Given the description of an element on the screen output the (x, y) to click on. 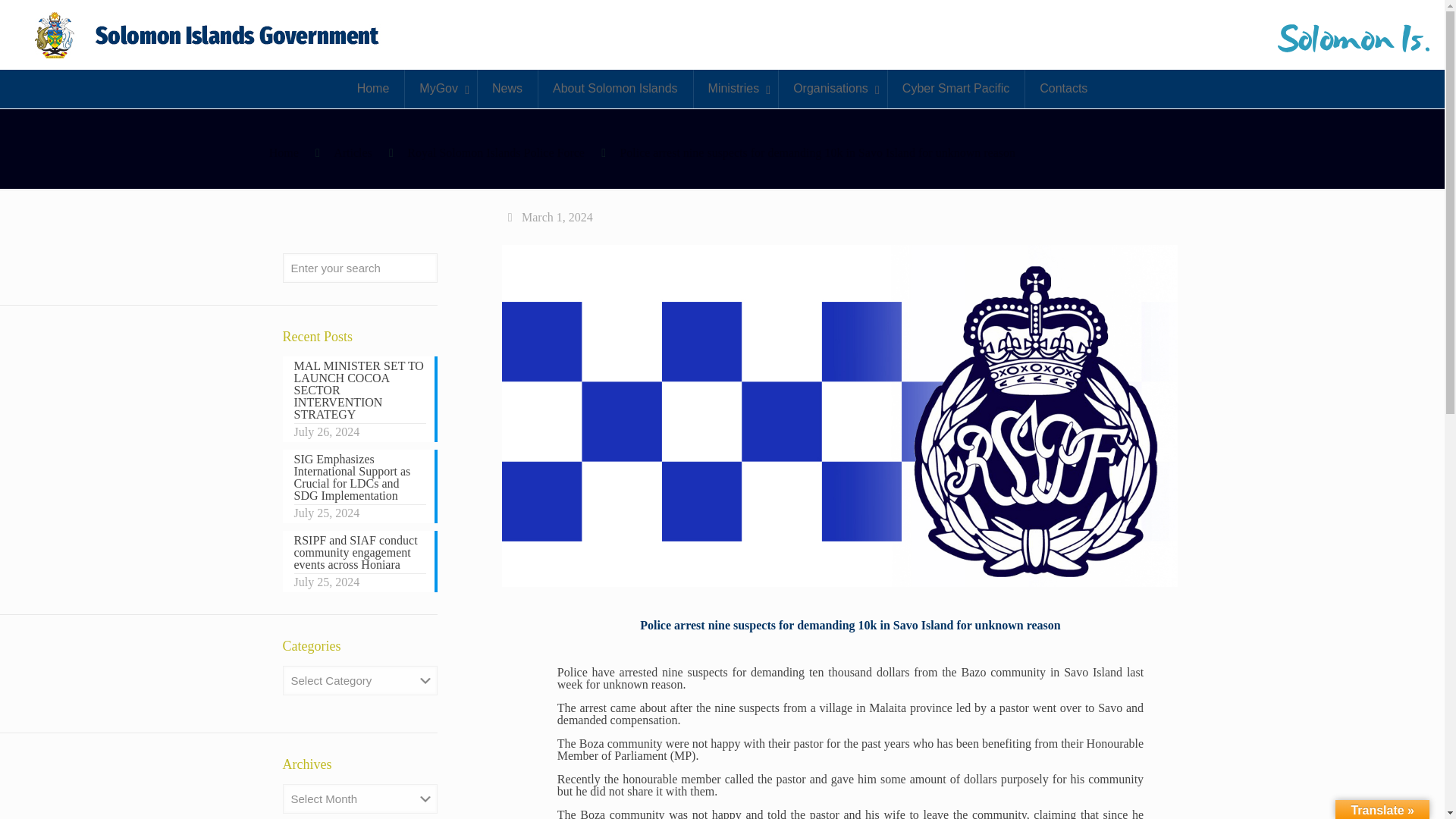
News (507, 88)
MyGov (440, 88)
Home (373, 88)
My SIG Services Portal (208, 34)
Organisations (831, 88)
Ministries (735, 88)
About Solomon Islands (615, 88)
